Given the description of an element on the screen output the (x, y) to click on. 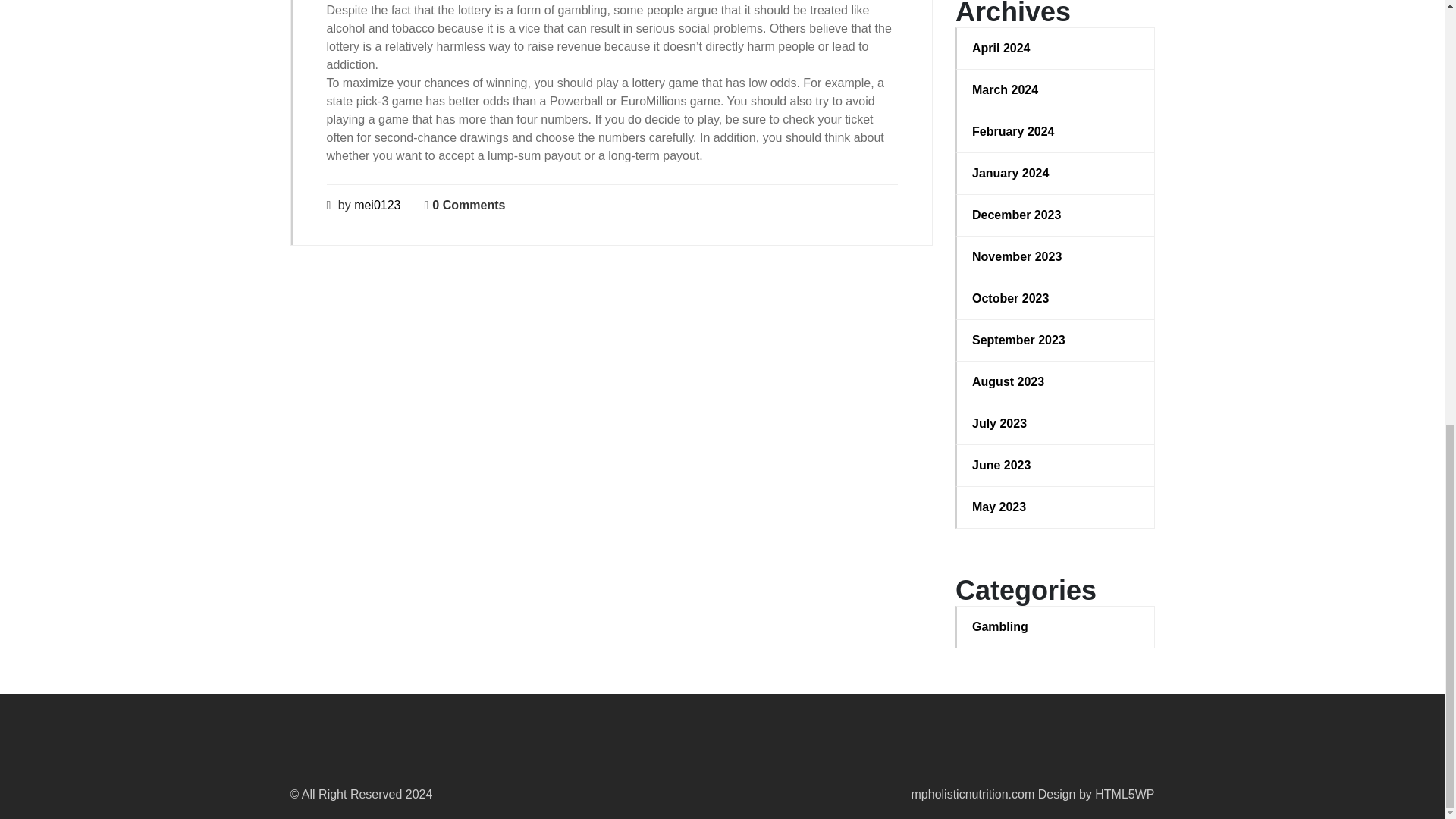
February 2024 (1055, 131)
Gambling (1055, 627)
January 2024 (1055, 173)
HTML5WP (1124, 793)
May 2023 (1055, 506)
March 2024 (1055, 90)
April 2024 (1055, 48)
August 2023 (1055, 382)
July 2023 (1055, 423)
December 2023 (1055, 215)
